Given the description of an element on the screen output the (x, y) to click on. 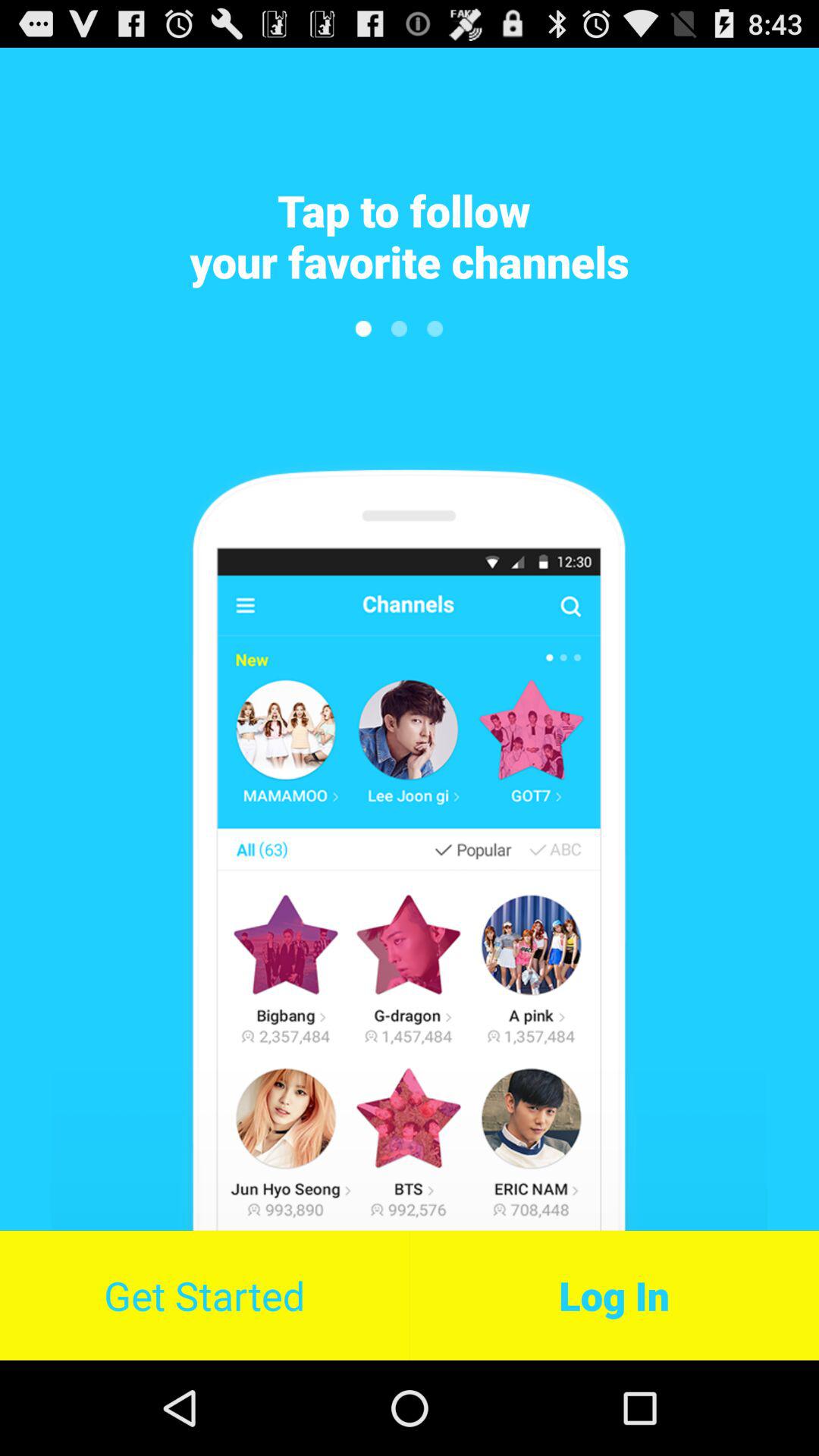
tap item to the right of get started (614, 1295)
